Given the description of an element on the screen output the (x, y) to click on. 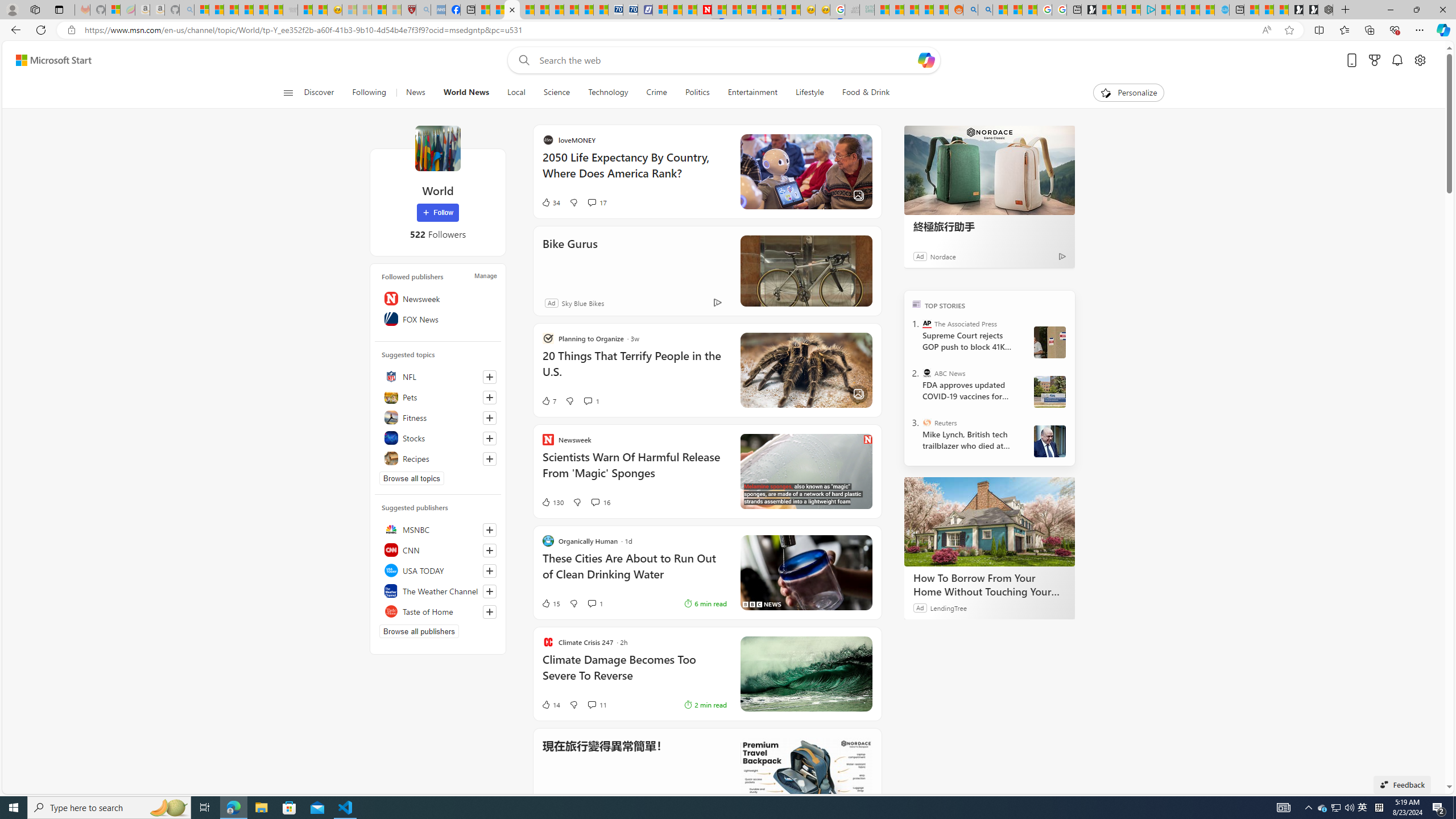
Stocks (437, 437)
Follow this topic (489, 459)
20 Things That Terrify People in the U.S. (633, 369)
View comments 17 Comment (591, 202)
Climate Damage Becomes Too Severe To Reverse (633, 673)
Scientists Warn Of Harmful Release From 'Magic' Sponges (633, 470)
CNN (437, 549)
